Given the description of an element on the screen output the (x, y) to click on. 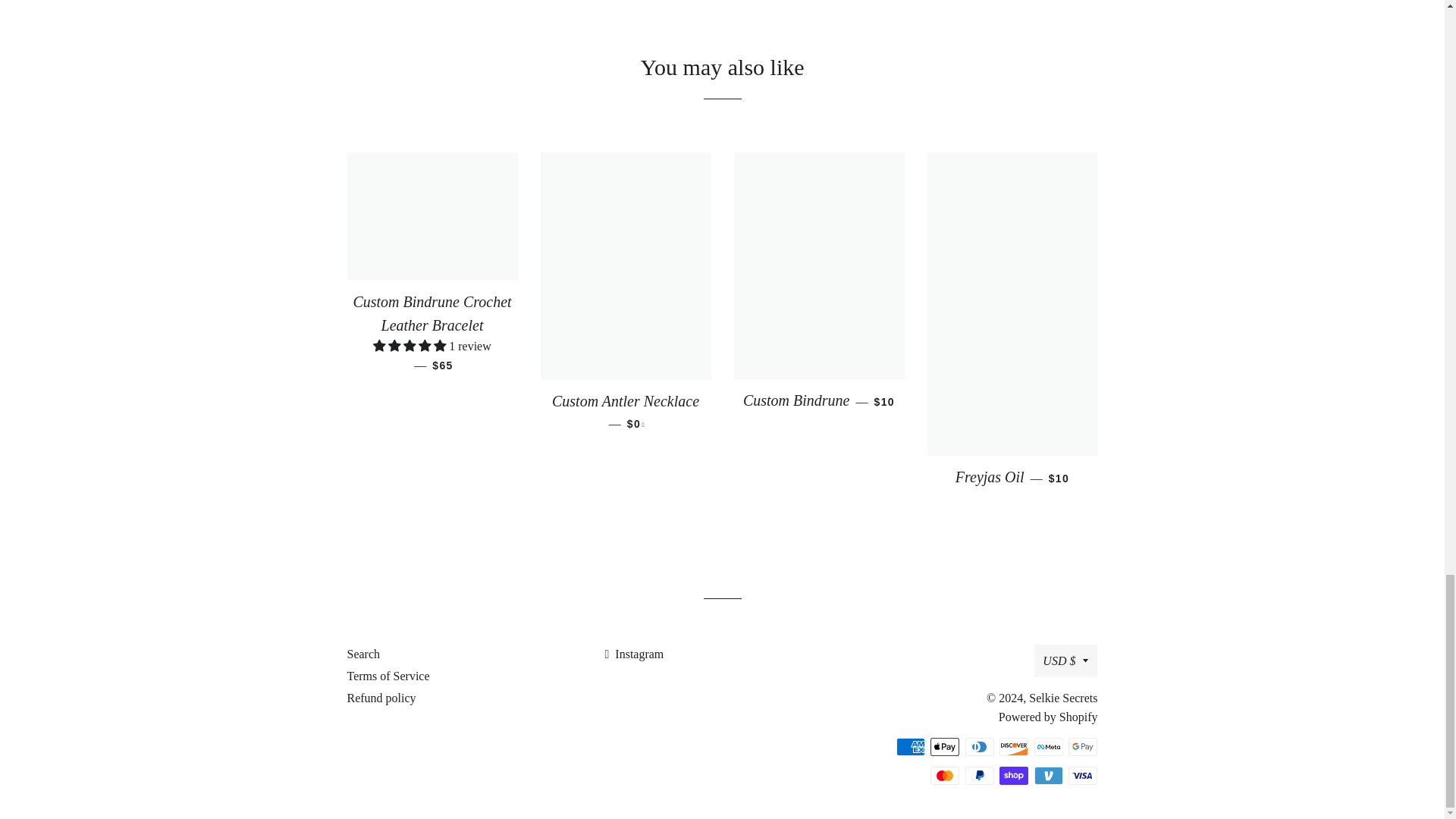
Shop Pay (1012, 775)
Search (363, 653)
Discover (1012, 746)
Diners Club (979, 746)
Selkie Secrets on Instagram (633, 653)
Google Pay (1082, 746)
Refund policy (381, 697)
PayPal (979, 775)
American Express (910, 746)
Apple Pay (944, 746)
Meta Pay (1047, 746)
Terms of Service (388, 675)
Mastercard (944, 775)
Venmo (1047, 775)
Visa (1082, 775)
